Given the description of an element on the screen output the (x, y) to click on. 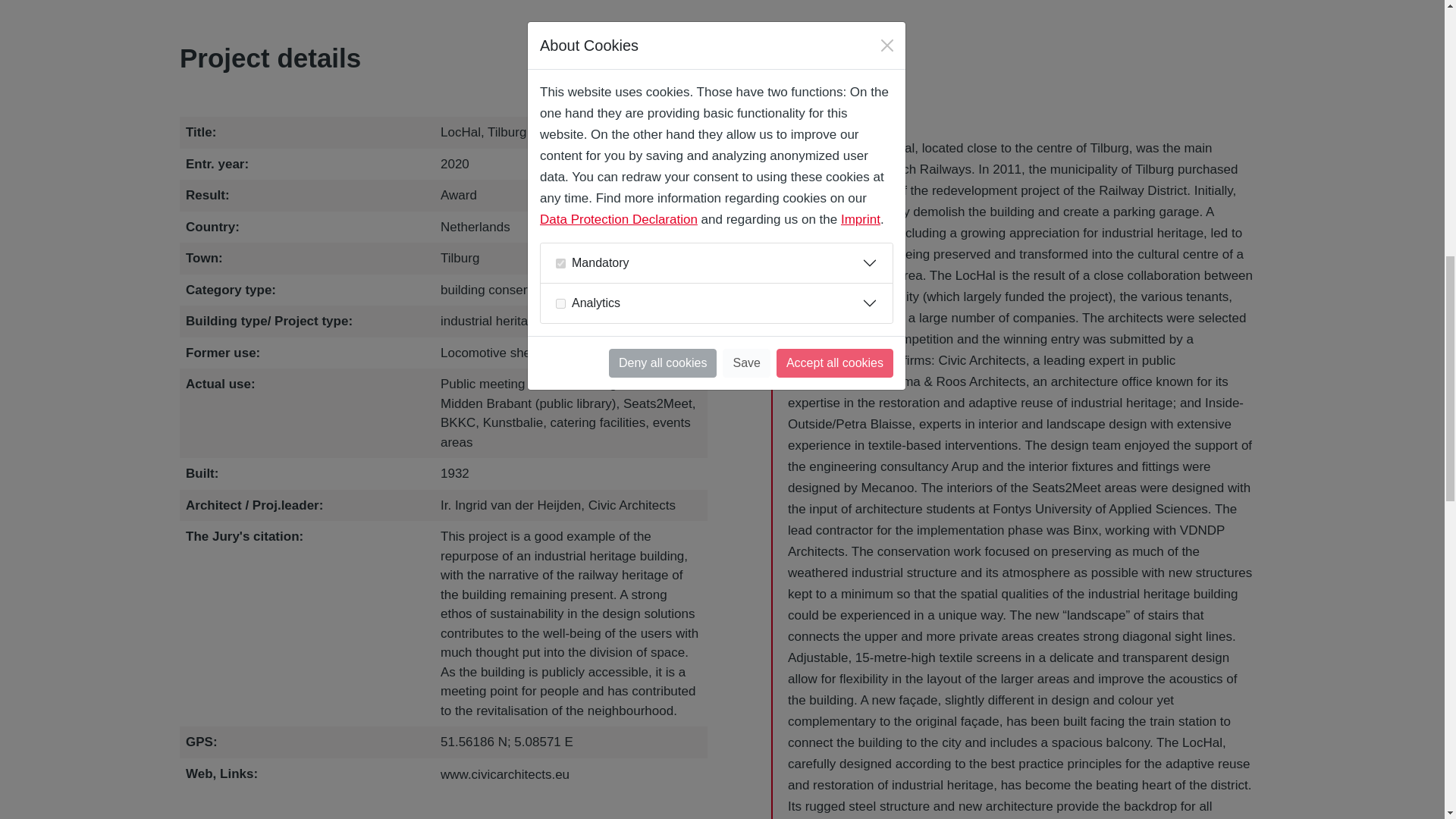
www.civicarchitects.eu (505, 774)
